Given the description of an element on the screen output the (x, y) to click on. 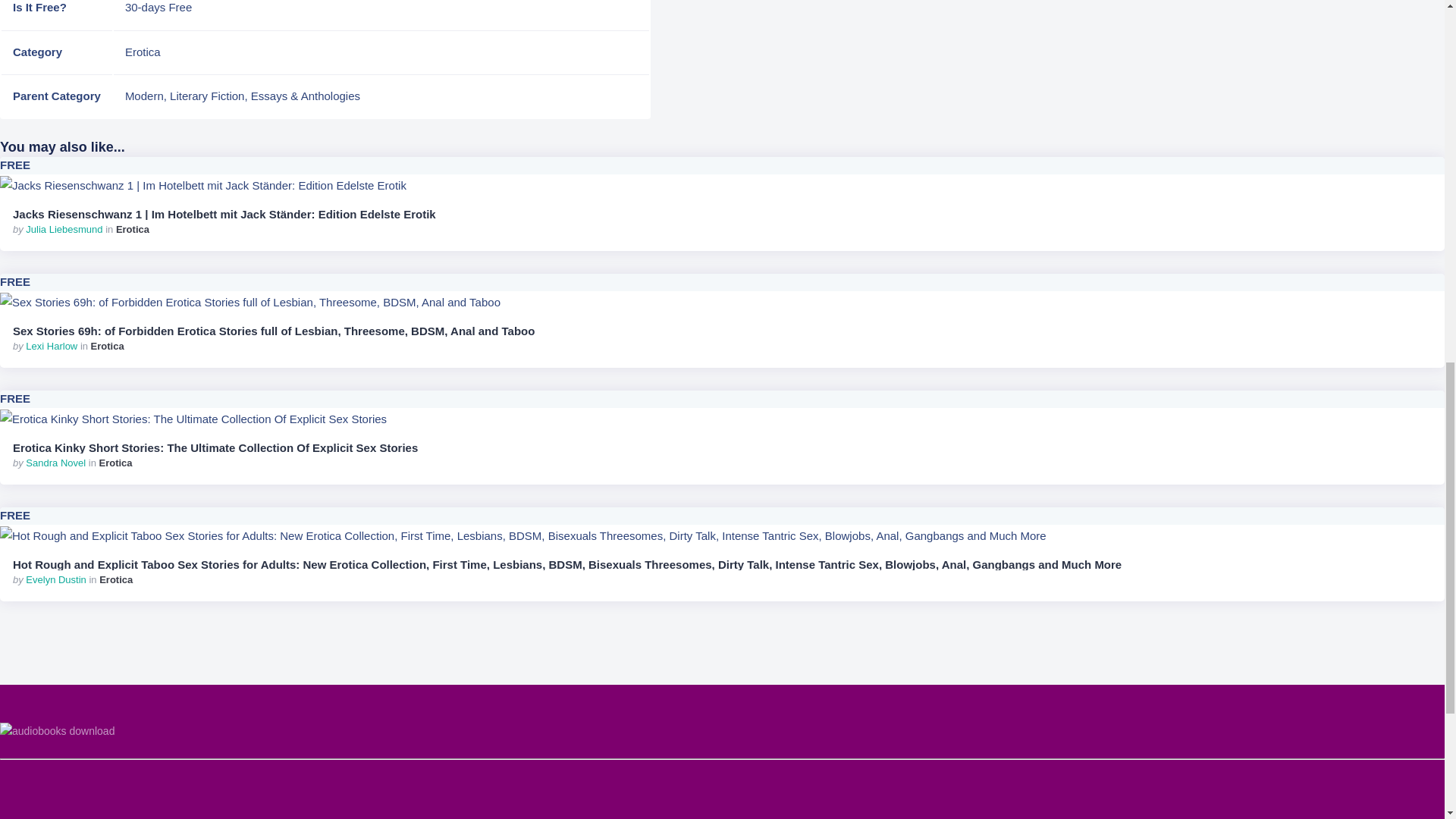
Erotica (142, 51)
Modern (144, 95)
Literary Fiction (207, 95)
